Given the description of an element on the screen output the (x, y) to click on. 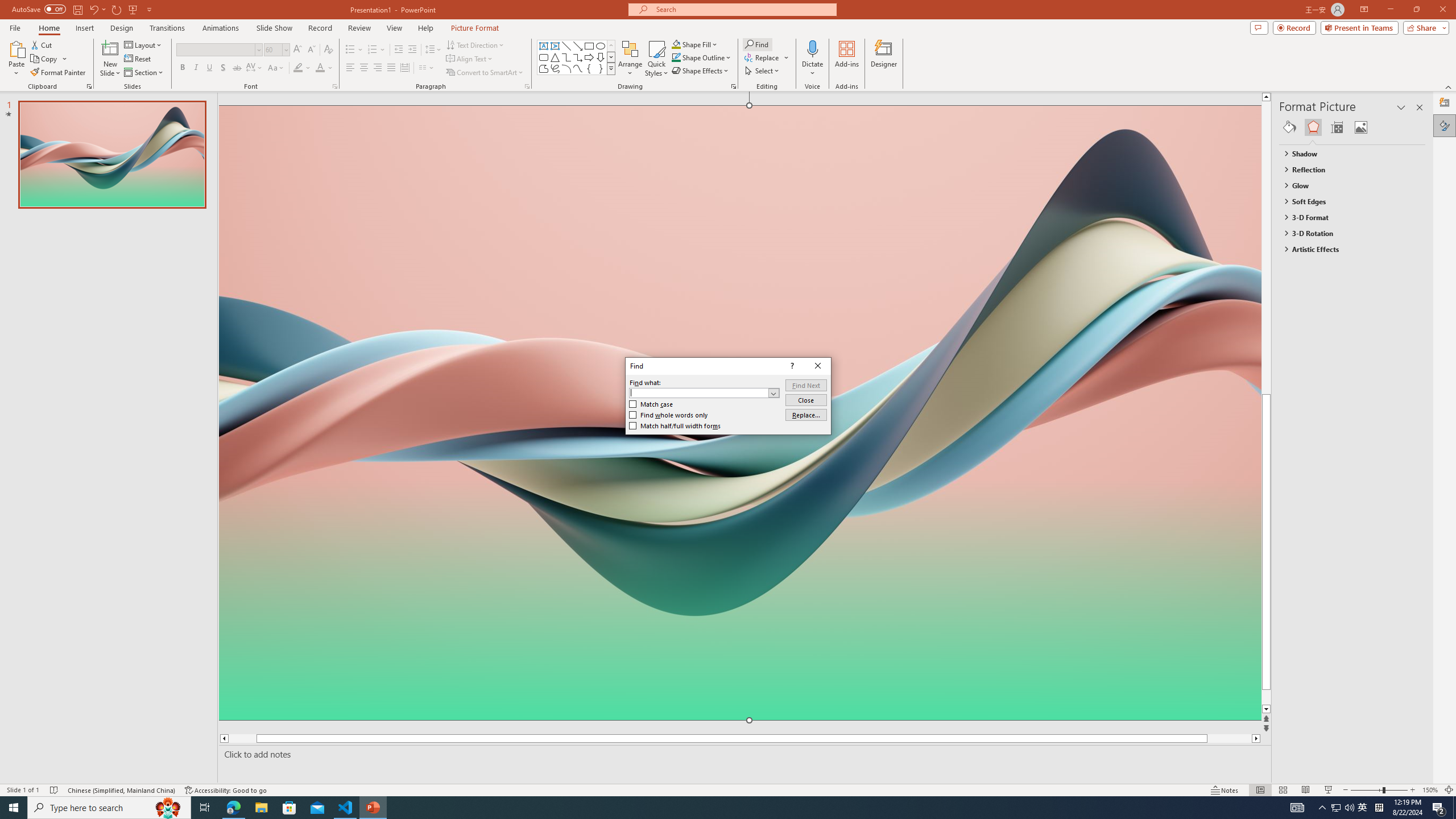
Convert to SmartArt (485, 72)
Center (363, 67)
Find... (756, 44)
Decorative Locked (739, 579)
3-D Format (1347, 217)
Find what (698, 392)
3-D Rotation (1347, 232)
